Given the description of an element on the screen output the (x, y) to click on. 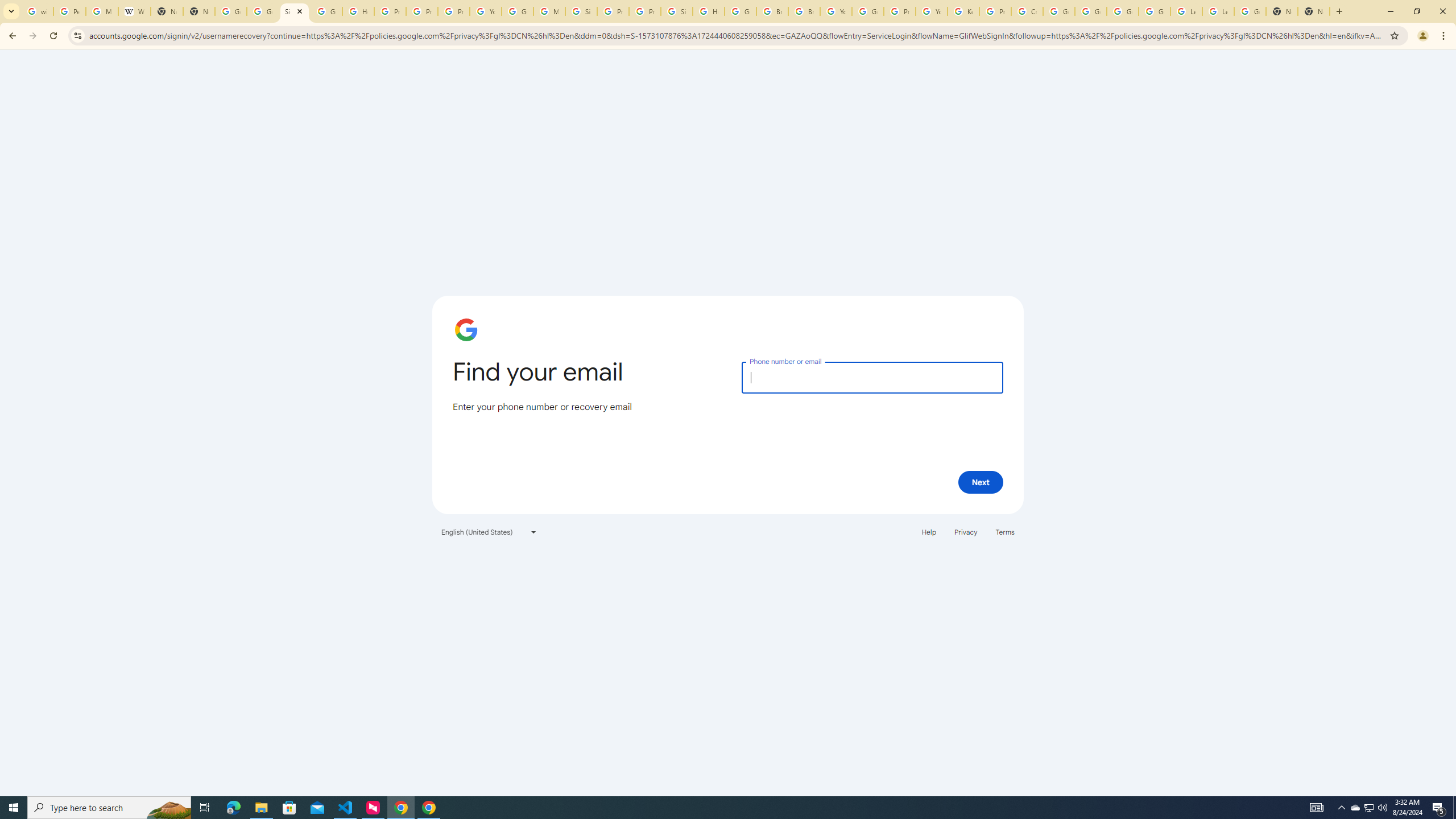
New Tab (1281, 11)
Google Account Help (1059, 11)
Manage your Location History - Google Search Help (101, 11)
Google Account Help (868, 11)
YouTube (836, 11)
